Given the description of an element on the screen output the (x, y) to click on. 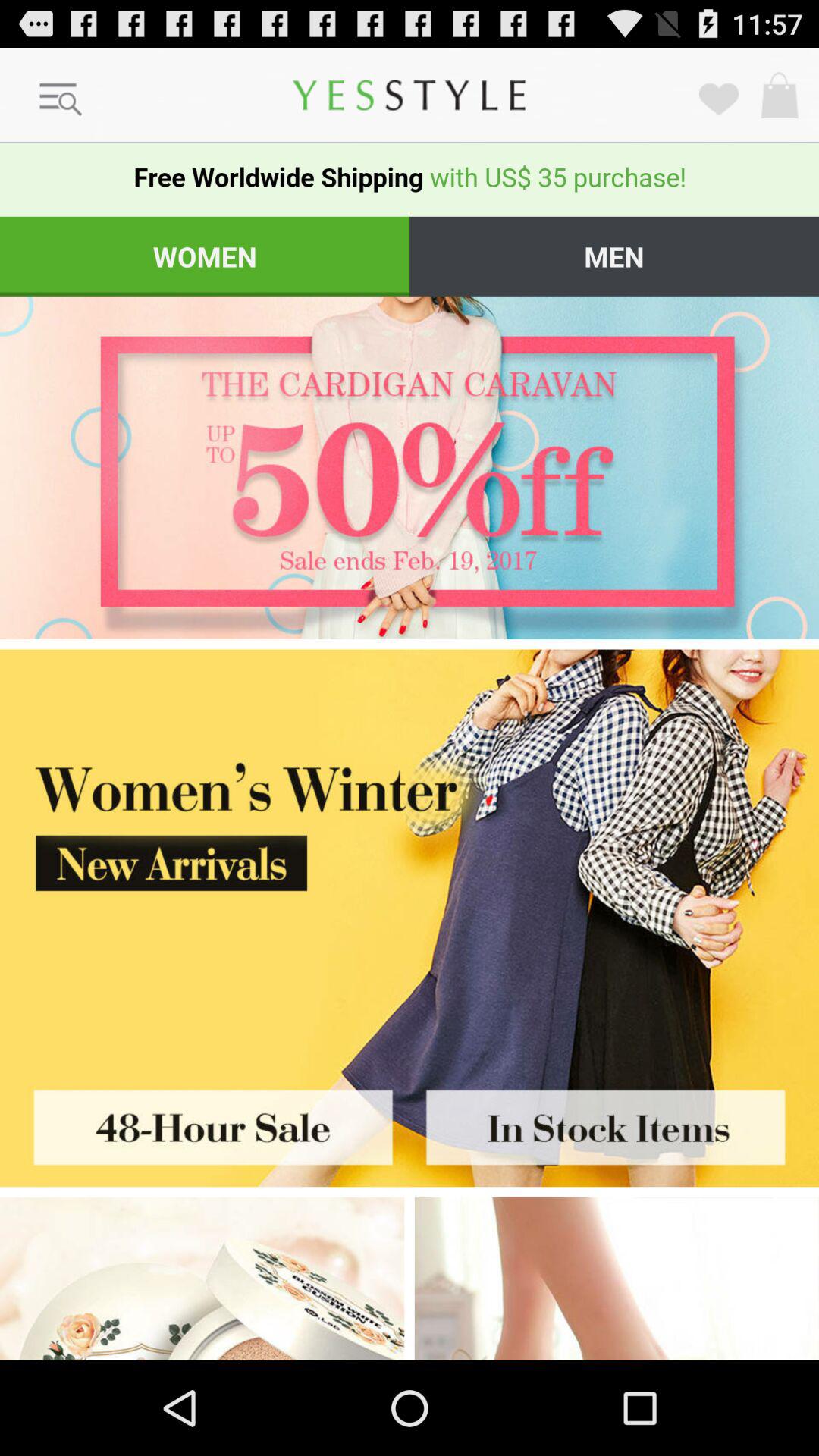
adventisment page (409, 854)
